Given the description of an element on the screen output the (x, y) to click on. 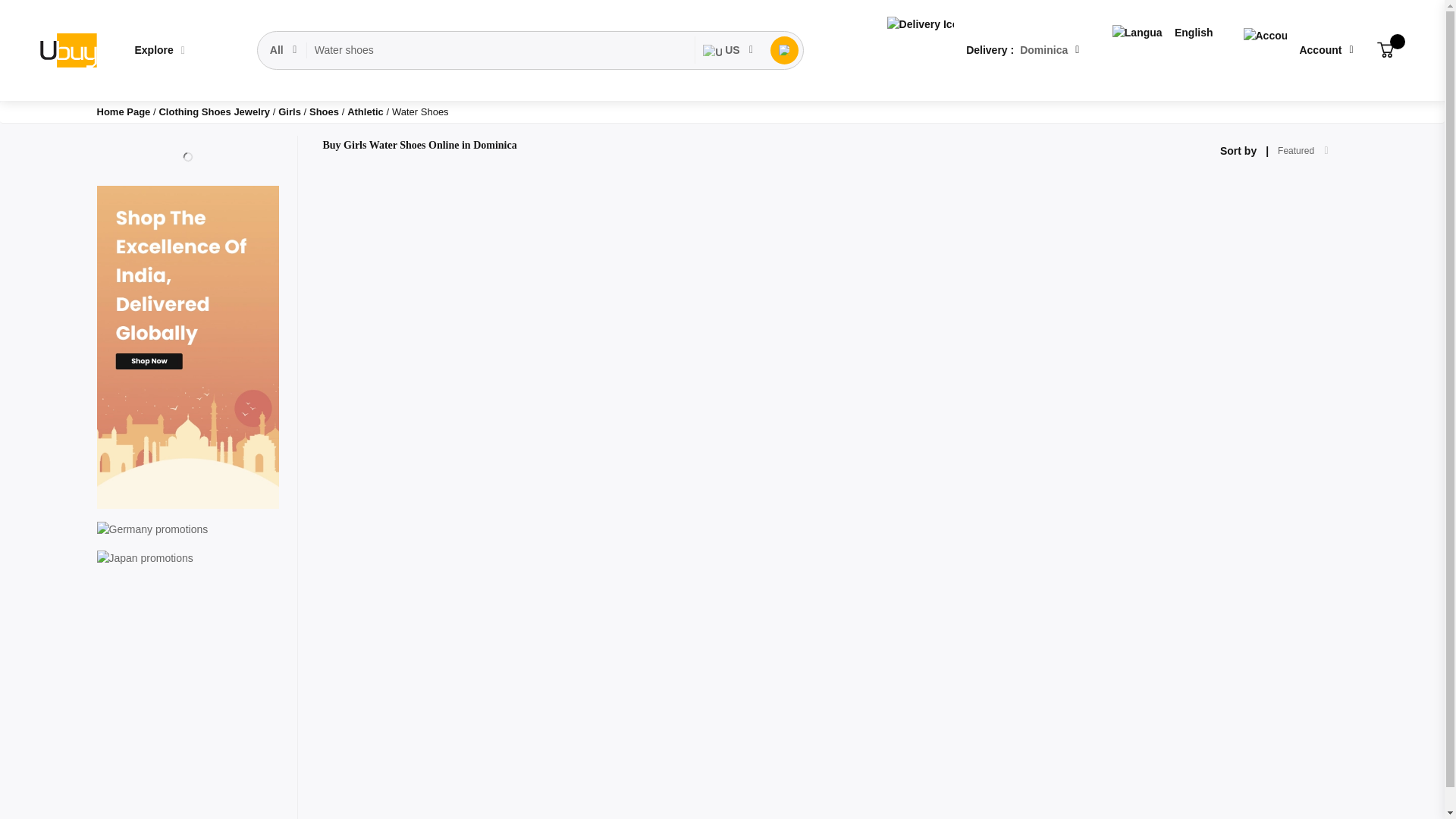
Cart (1364, 49)
Ubuy (57, 50)
Home Page (124, 111)
Home Page (124, 111)
US (685, 50)
Clothing Shoes Jewelry (215, 111)
Water shoes (468, 49)
Water shoes (468, 49)
All (263, 50)
Clothing Shoes Jewelry (215, 111)
